Given the description of an element on the screen output the (x, y) to click on. 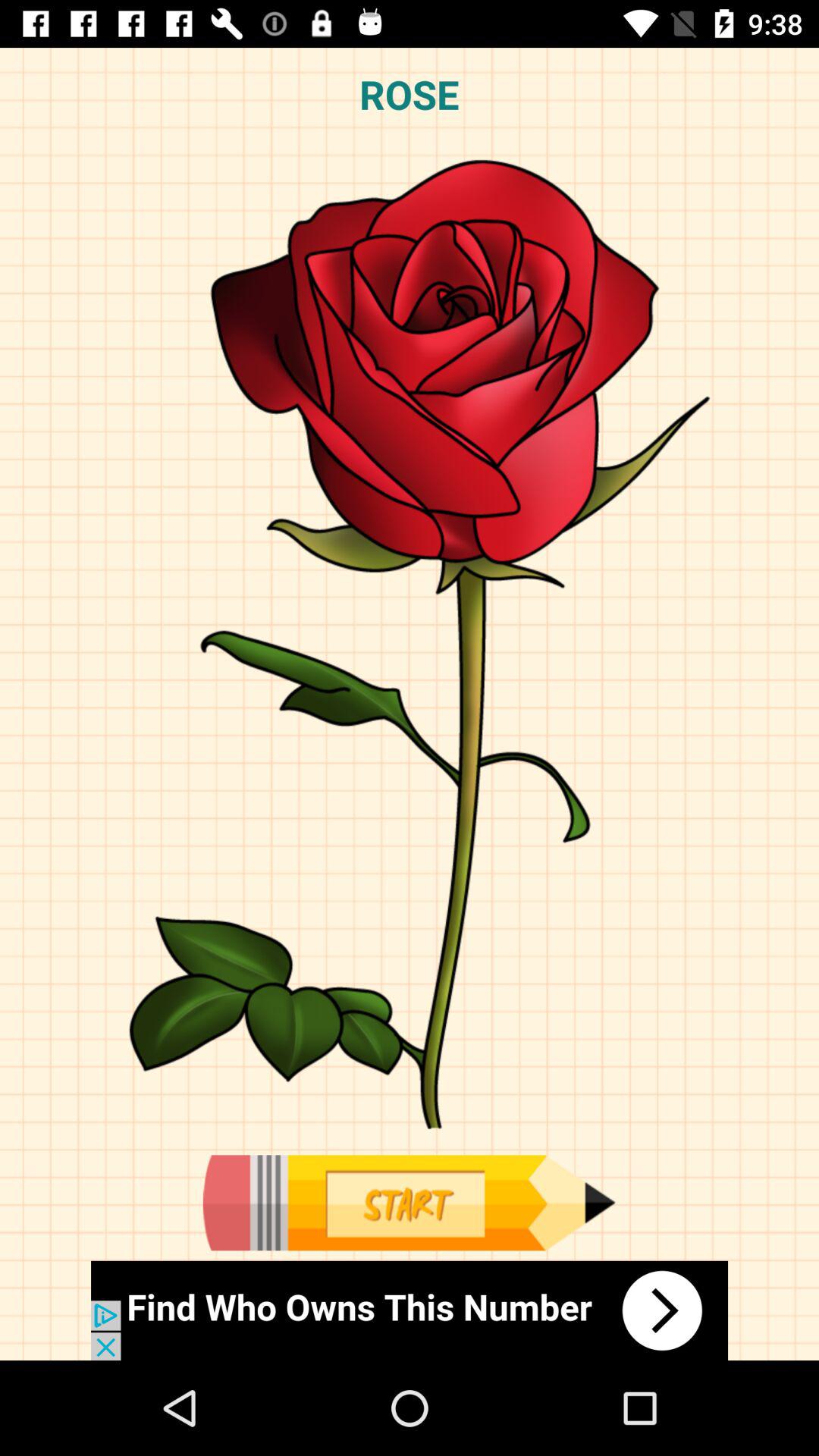
add the option (409, 1310)
